Given the description of an element on the screen output the (x, y) to click on. 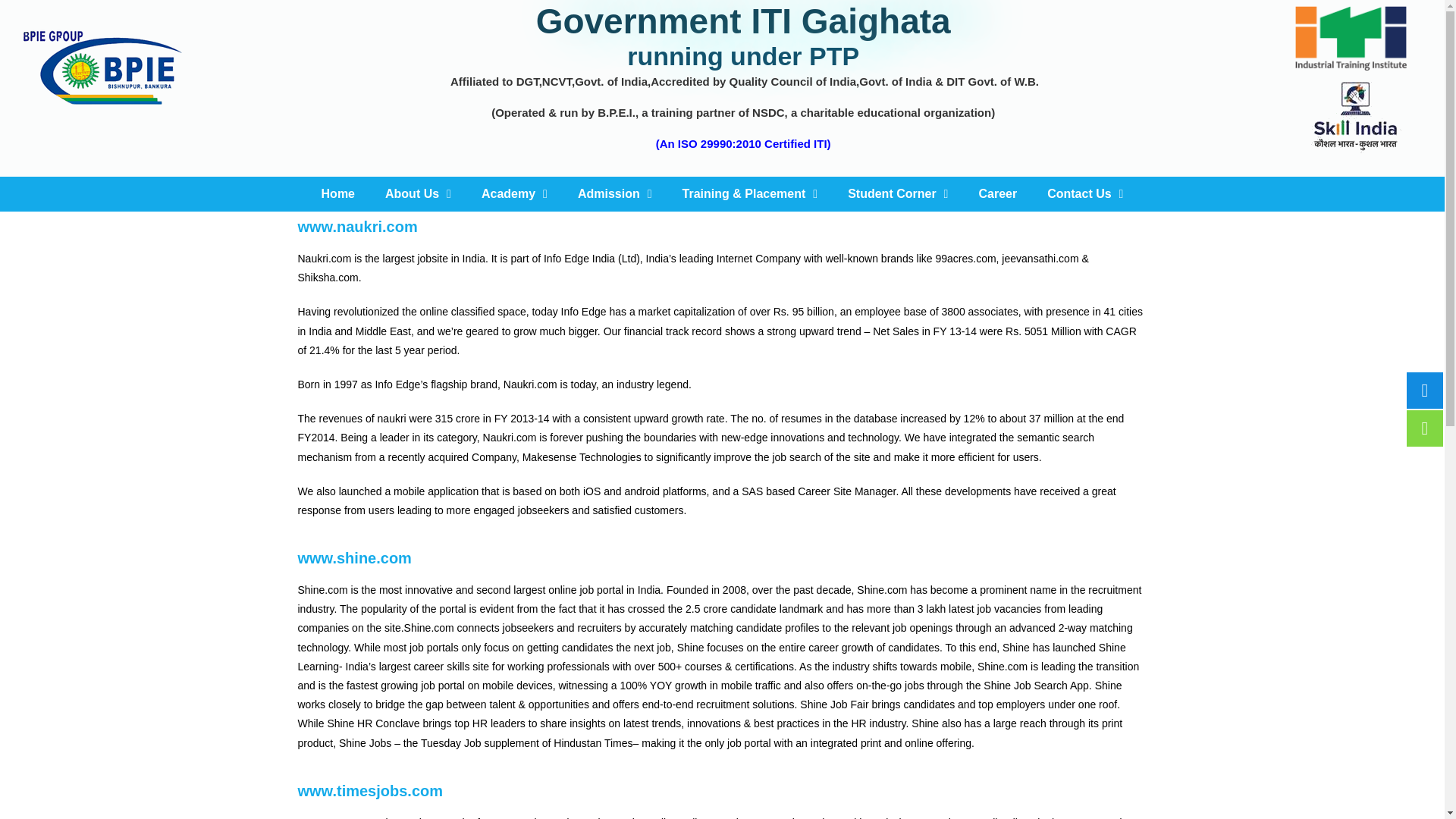
Student Corner (897, 193)
Admission (614, 193)
About Us (417, 193)
Home (337, 193)
Academy (513, 193)
